Given the description of an element on the screen output the (x, y) to click on. 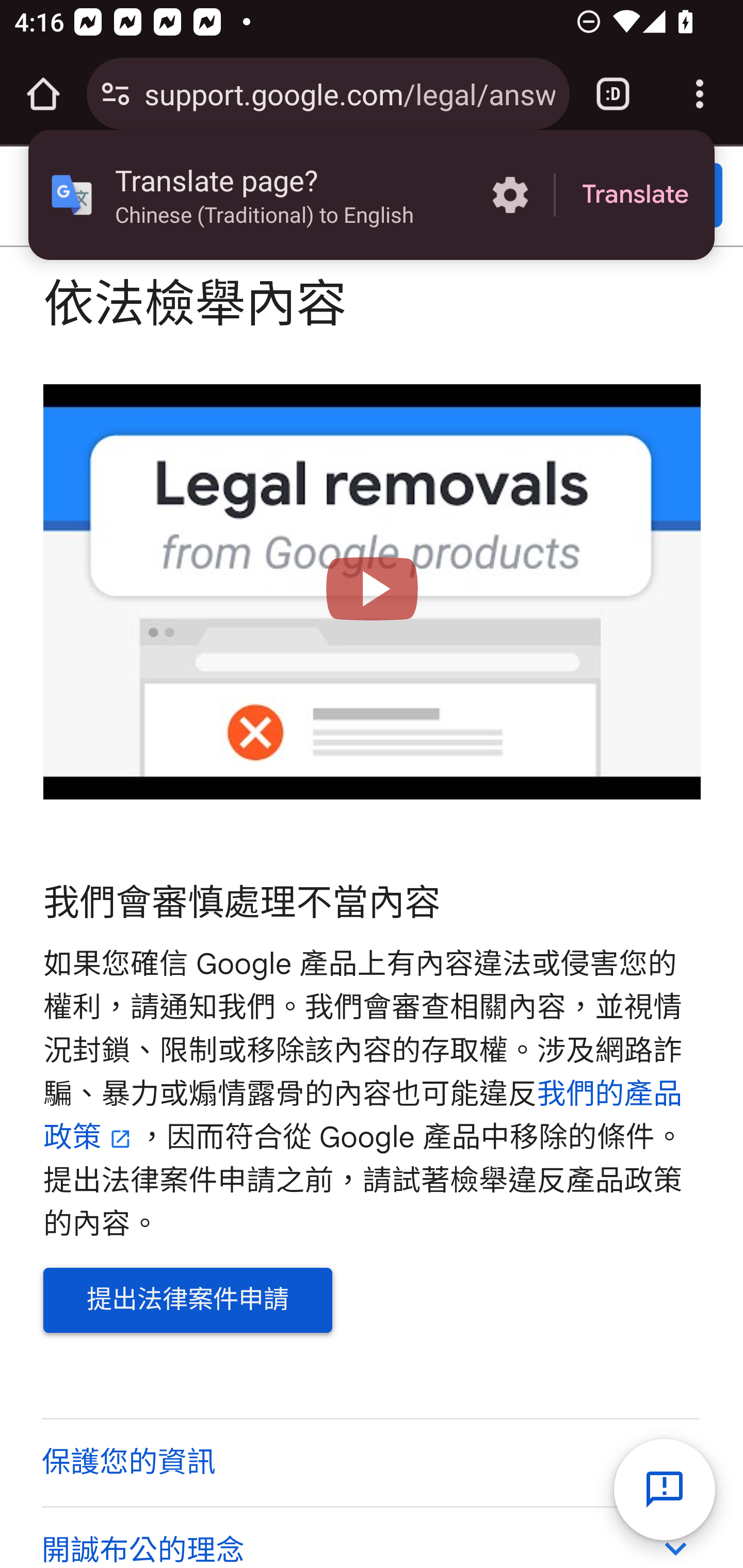
Open the home page (43, 93)
Connection is secure (115, 93)
Switch or close tabs (612, 93)
Customize and control Google Chrome (699, 93)
主選單 (58, 195)
法律相關問題說明 (292, 197)
More options in the Translate page? (509, 195)
登入 (650, 195)
載入影片 (372, 591)
我們的產品政策 (363, 1116)
提出法律案件申請 (188, 1300)
保護您的資訊 (369, 1461)
開誠布公的理念 (369, 1536)
